Given the description of an element on the screen output the (x, y) to click on. 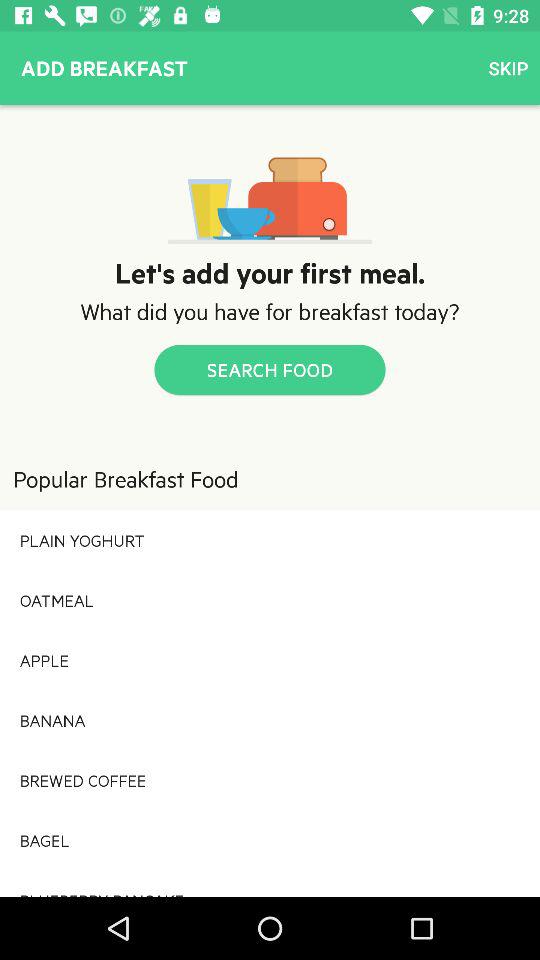
launch the item below the apple item (270, 720)
